Given the description of an element on the screen output the (x, y) to click on. 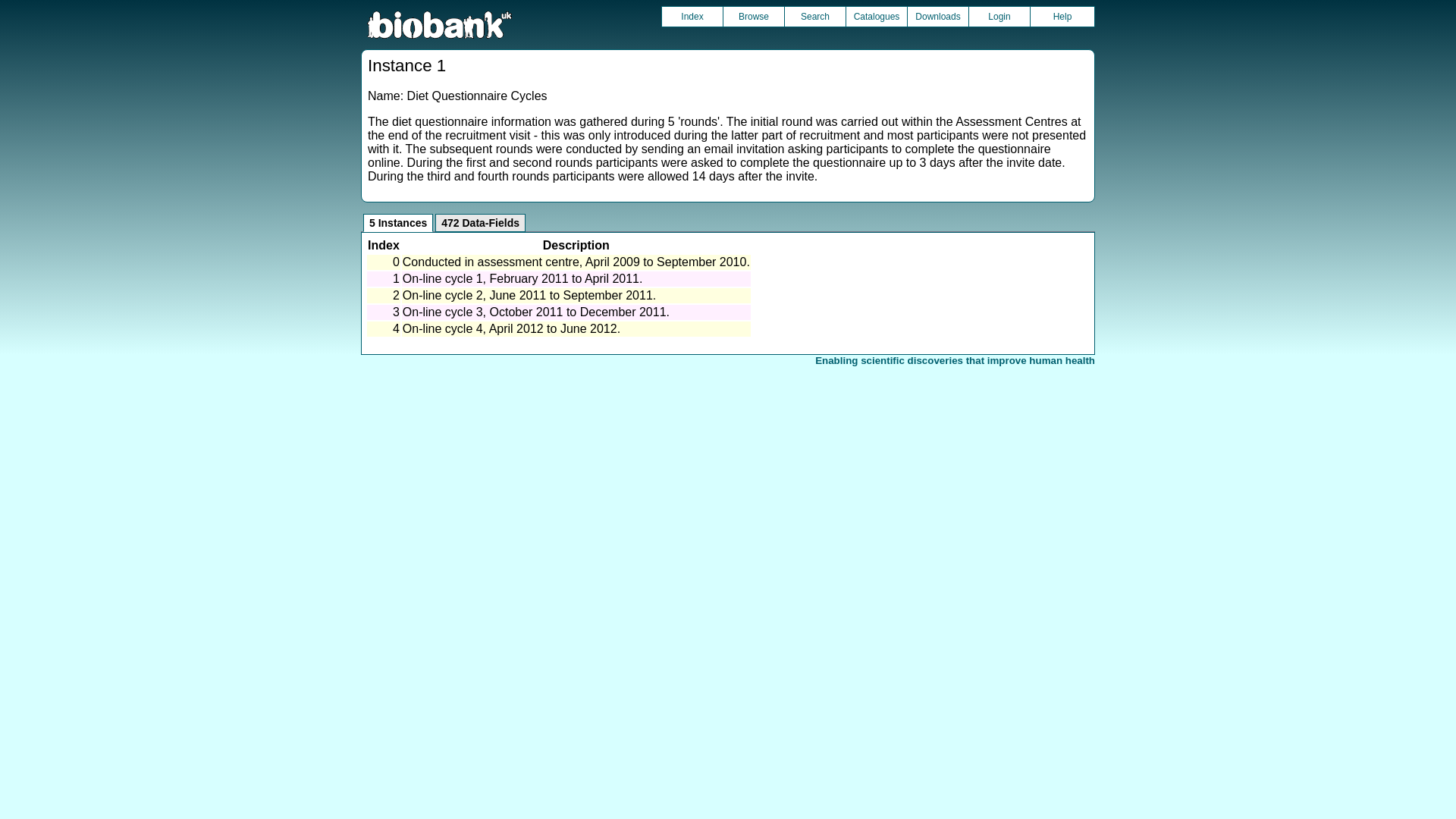
Index (692, 16)
472 Data-Fields (480, 222)
Login (999, 16)
Catalogues (876, 16)
Help (1062, 16)
Search (814, 16)
Browse (753, 16)
5 Instances (397, 222)
Downloads (937, 16)
